Given the description of an element on the screen output the (x, y) to click on. 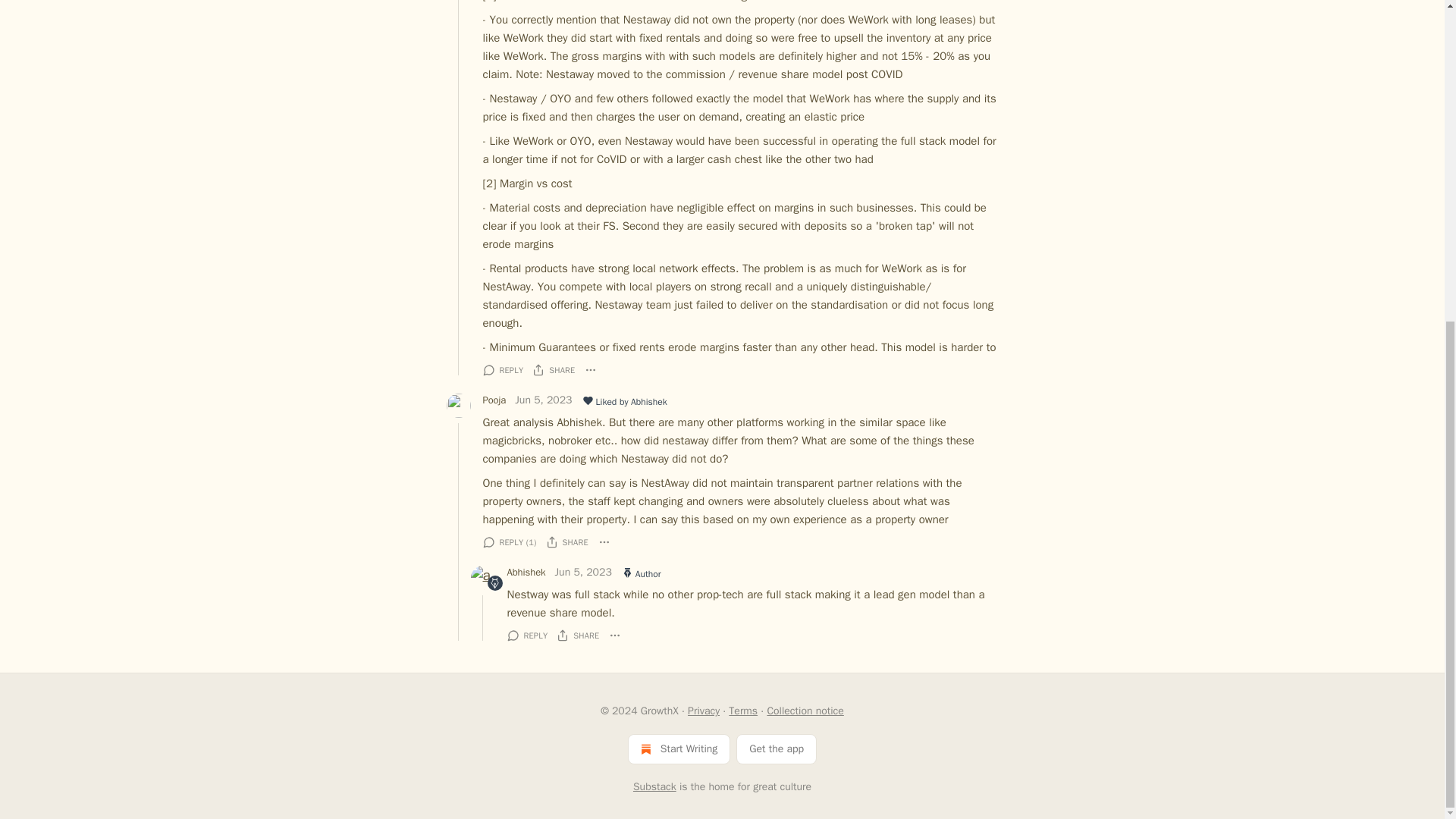
Pooja (493, 400)
SHARE (567, 541)
REPLY (501, 369)
SHARE (553, 369)
Jun 5, 2023 (543, 401)
